Given the description of an element on the screen output the (x, y) to click on. 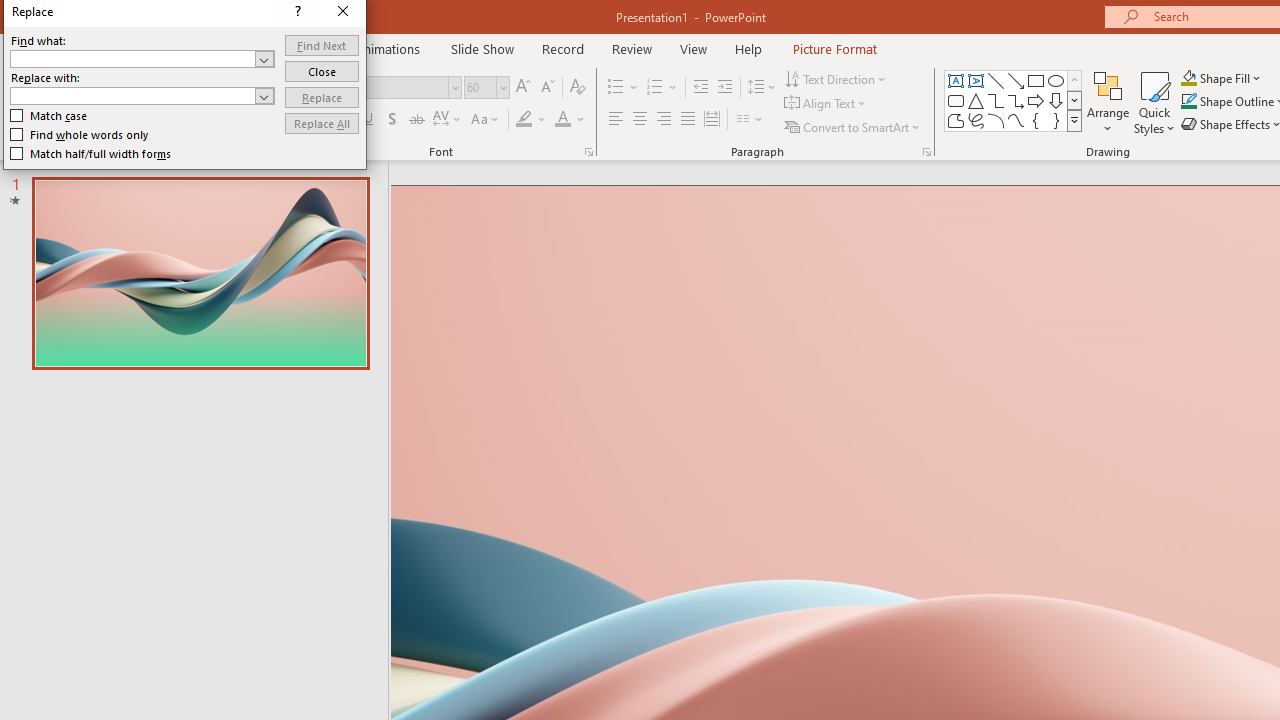
Find whole words only (424, 376)
Replace with (564, 391)
Match case (409, 367)
